Given the description of an element on the screen output the (x, y) to click on. 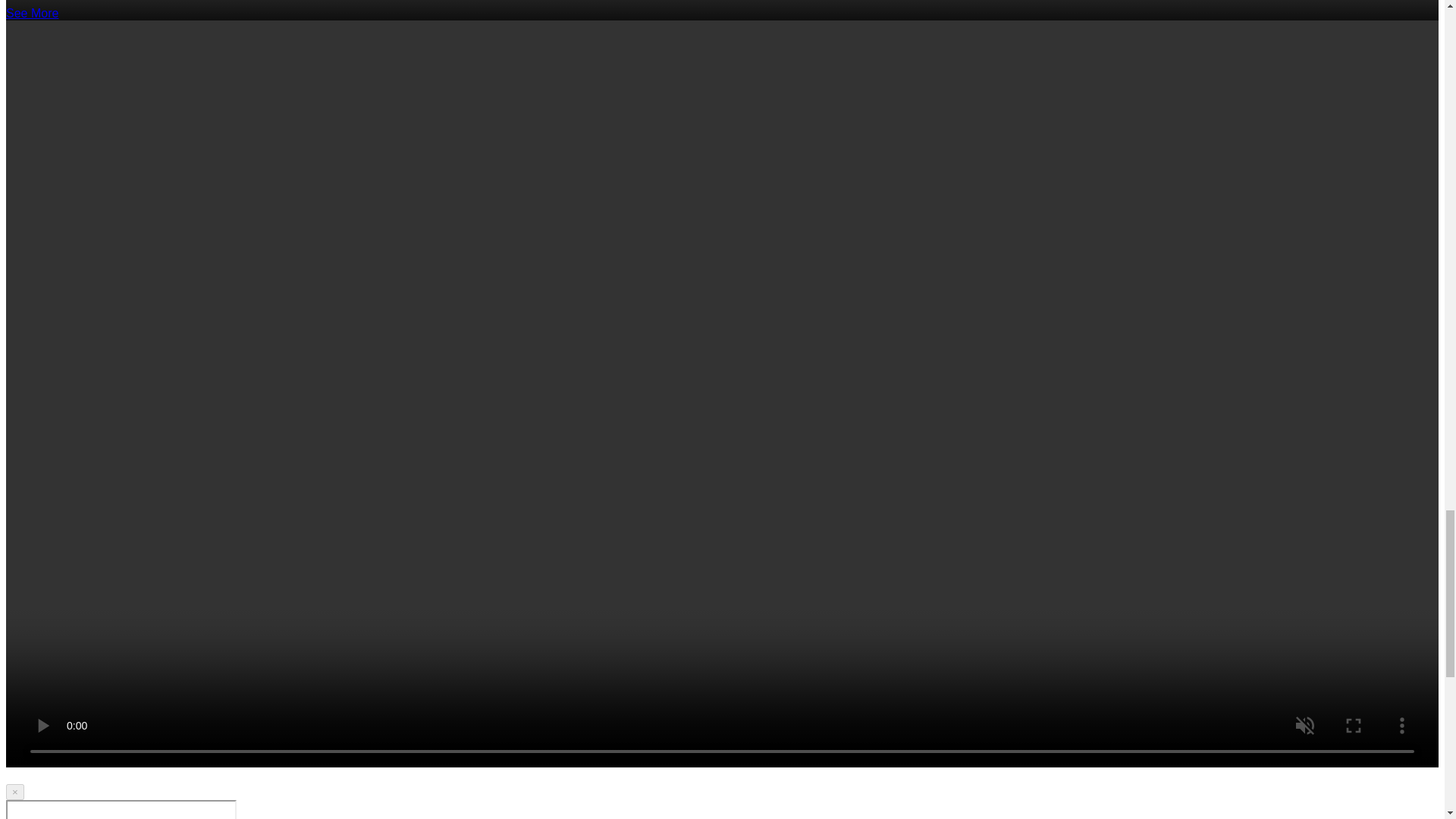
See More (31, 12)
